Given the description of an element on the screen output the (x, y) to click on. 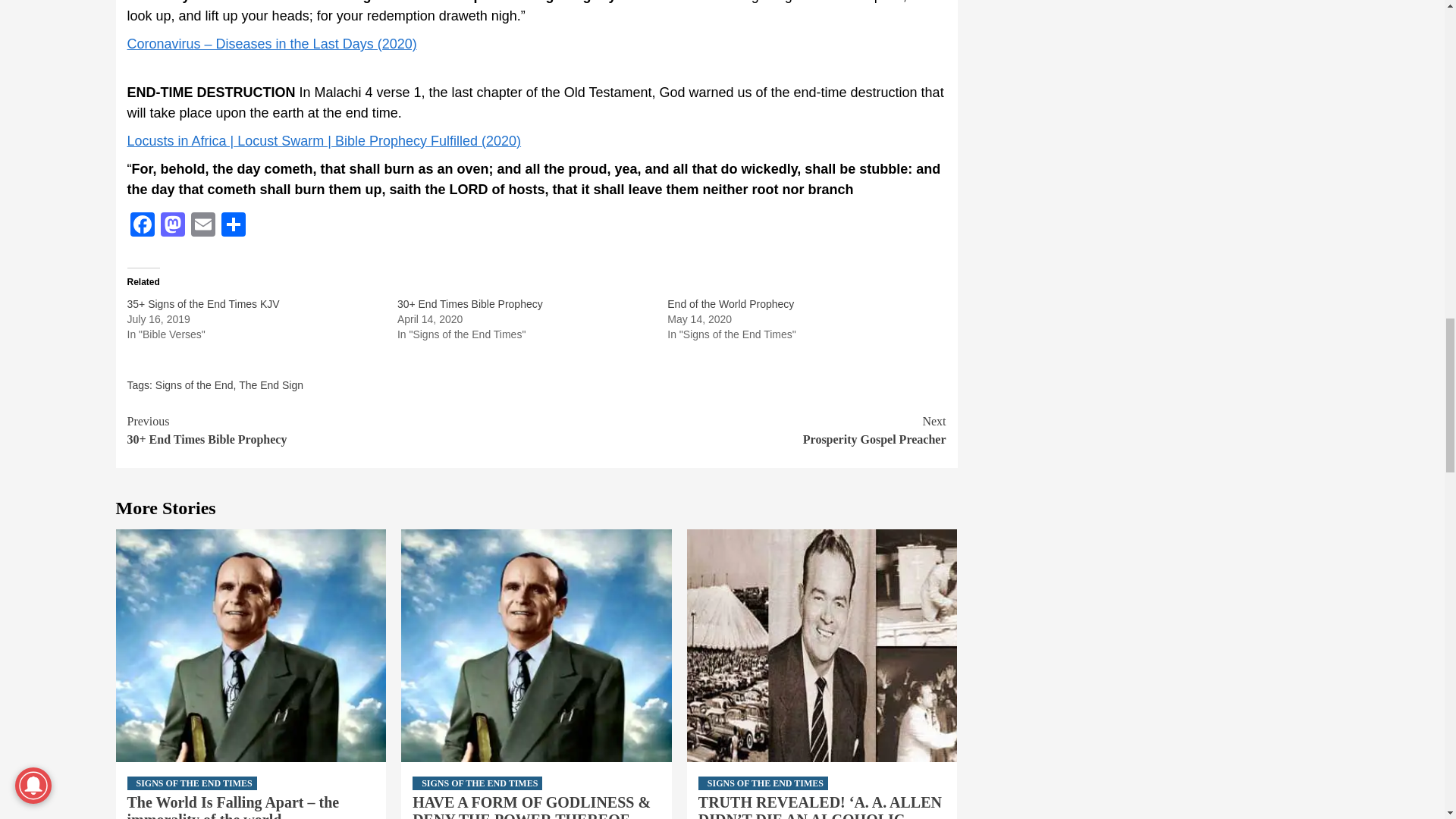
Signs of the End (193, 385)
Mastodon (172, 226)
Facebook (142, 226)
Share (233, 226)
Facebook (142, 226)
End of the World Prophecy (729, 304)
The End Sign (270, 385)
Email (202, 226)
Email (202, 226)
End of the World Prophecy (729, 304)
Mastodon (741, 430)
